Given the description of an element on the screen output the (x, y) to click on. 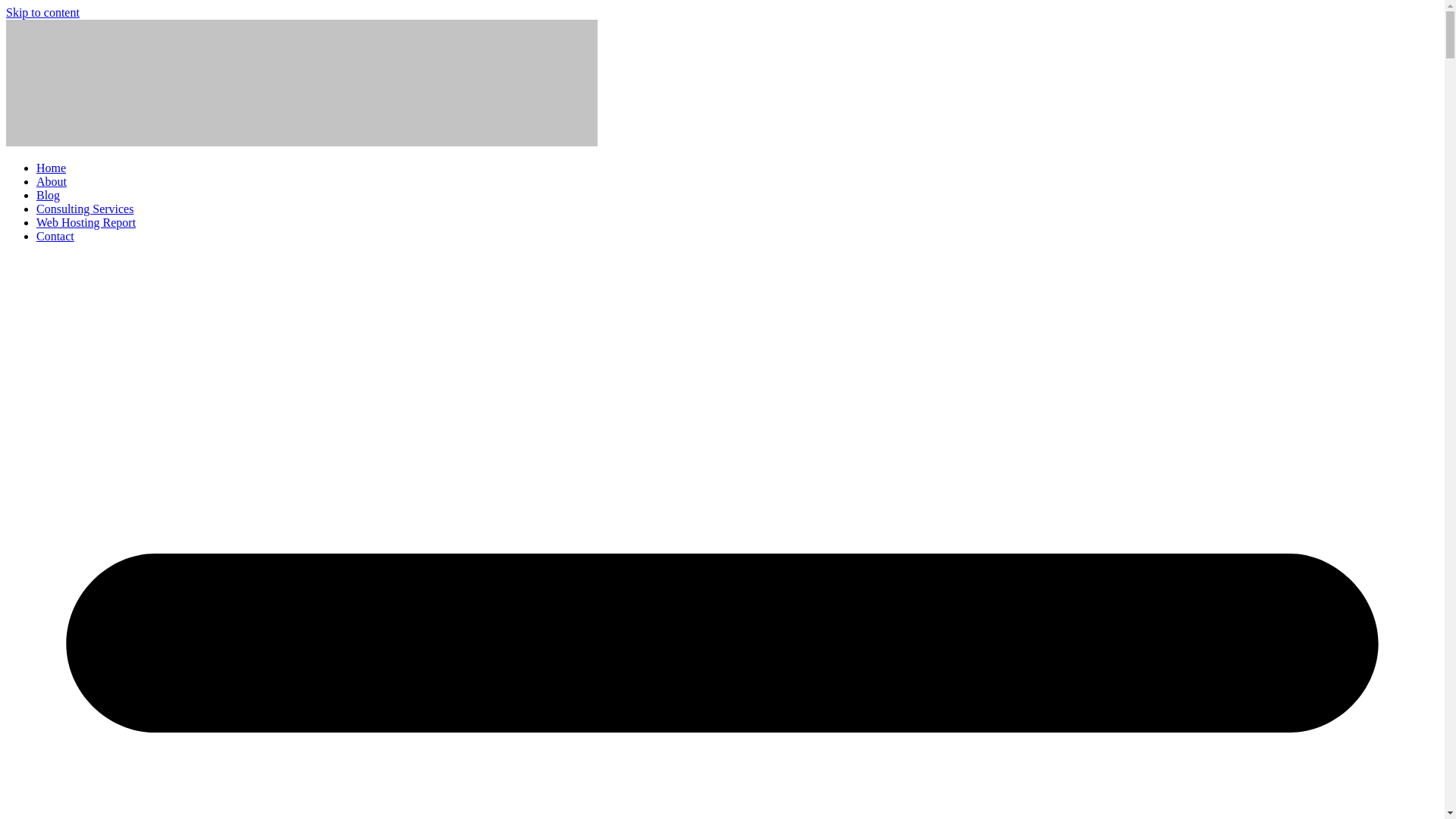
About (51, 181)
Web Hosting Report (85, 222)
Skip to content (42, 11)
Contact (55, 236)
Home (50, 167)
final-ict-wide-logo (300, 82)
Consulting Services (84, 208)
Blog (47, 195)
